Given the description of an element on the screen output the (x, y) to click on. 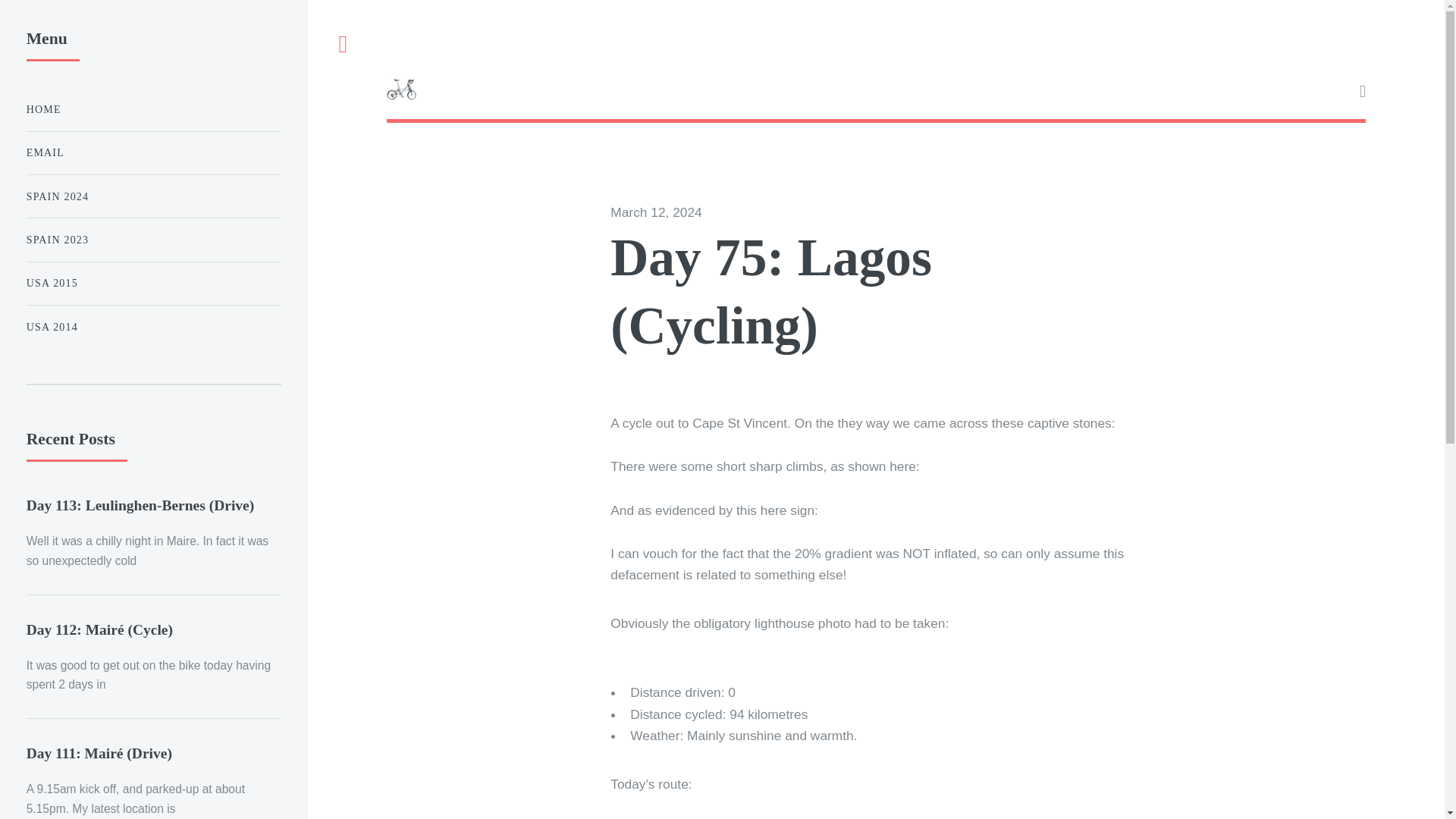
USA 2015 (153, 283)
SPAIN 2023 (153, 239)
HOME (153, 109)
EMAIL (153, 153)
USA 2014 (153, 327)
SPAIN 2024 (153, 196)
